Given the description of an element on the screen output the (x, y) to click on. 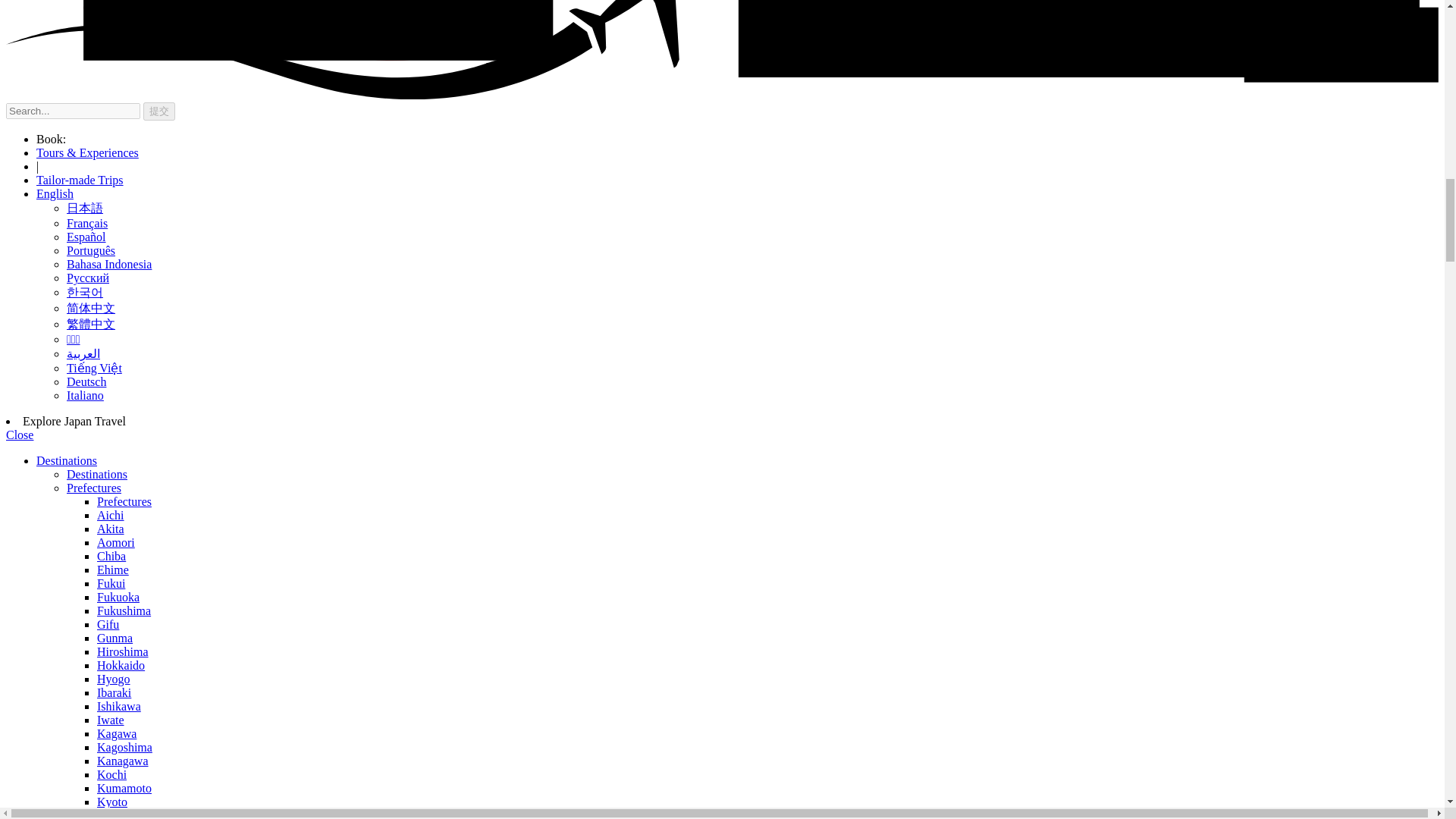
Aichi (110, 514)
Hyogo (114, 678)
Close (19, 434)
Italiano (84, 395)
Gifu (108, 624)
Destinations (66, 460)
Destinations (97, 473)
Ehime (113, 569)
Tailor-made Trips (79, 179)
Akita (110, 528)
Hiroshima (122, 651)
Bahasa Indonesia (108, 264)
Aomori (116, 542)
Chiba (111, 555)
Deutsch (86, 381)
